Given the description of an element on the screen output the (x, y) to click on. 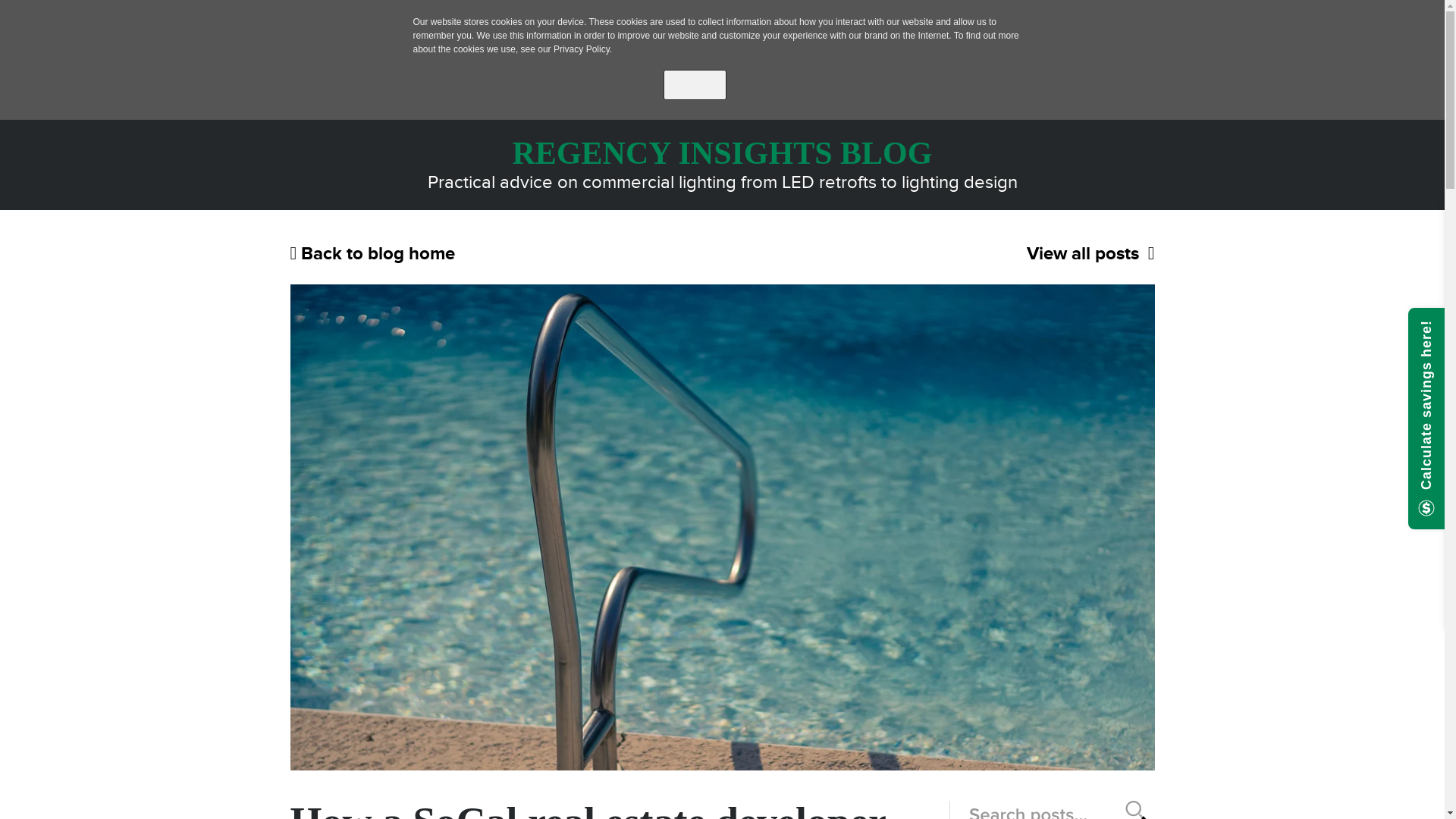
Shop Products (777, 78)
Search (1154, 78)
Privacy Policy (581, 49)
Studio (517, 21)
Lighting (378, 21)
About Us (1014, 78)
Electrical (449, 21)
Continue (694, 84)
Contact Us (1094, 78)
Corporate (304, 21)
Services (862, 78)
Resources (937, 78)
